Given the description of an element on the screen output the (x, y) to click on. 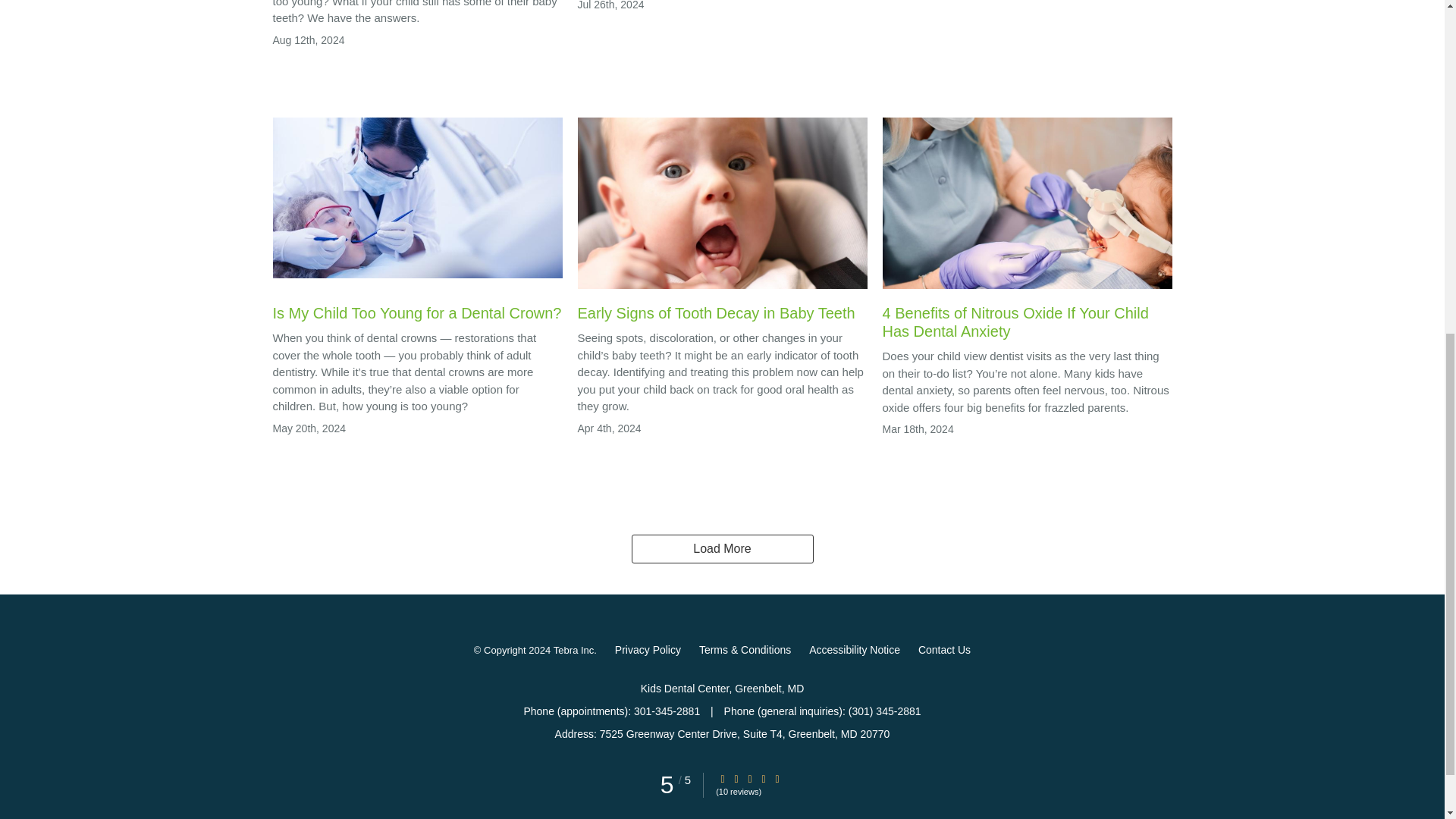
Star Rating (749, 778)
Star Rating (735, 778)
Star Rating (763, 778)
Star Rating (777, 778)
Star Rating (722, 778)
